Given the description of an element on the screen output the (x, y) to click on. 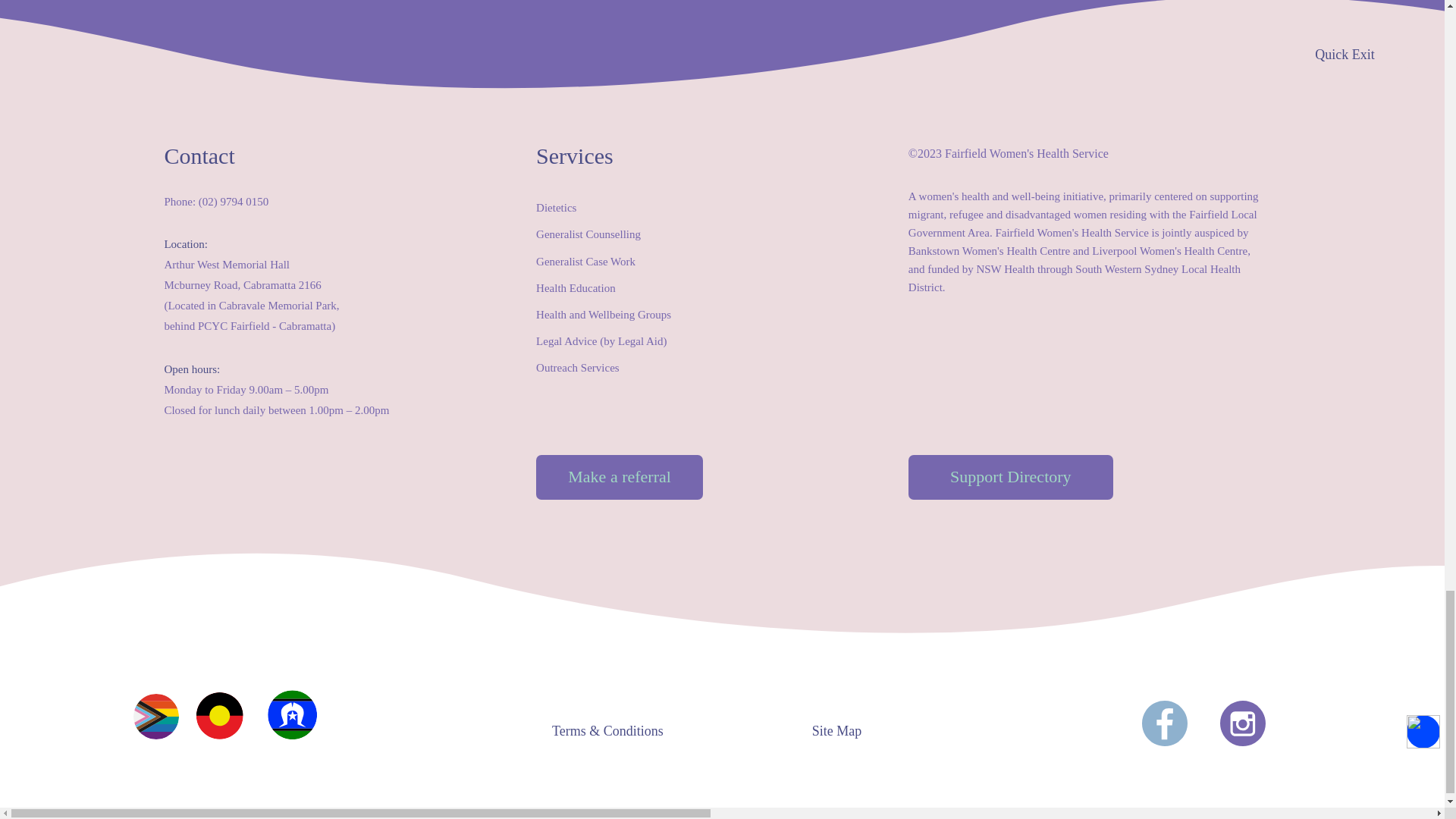
Outreach Services (577, 367)
Support Directory (1010, 477)
Make a referral (619, 477)
Dietetics (555, 207)
Generalist Case Work (584, 261)
Health Education (575, 287)
Generalist Counselling (587, 234)
Health and Wellbeing Groups (603, 314)
